Given the description of an element on the screen output the (x, y) to click on. 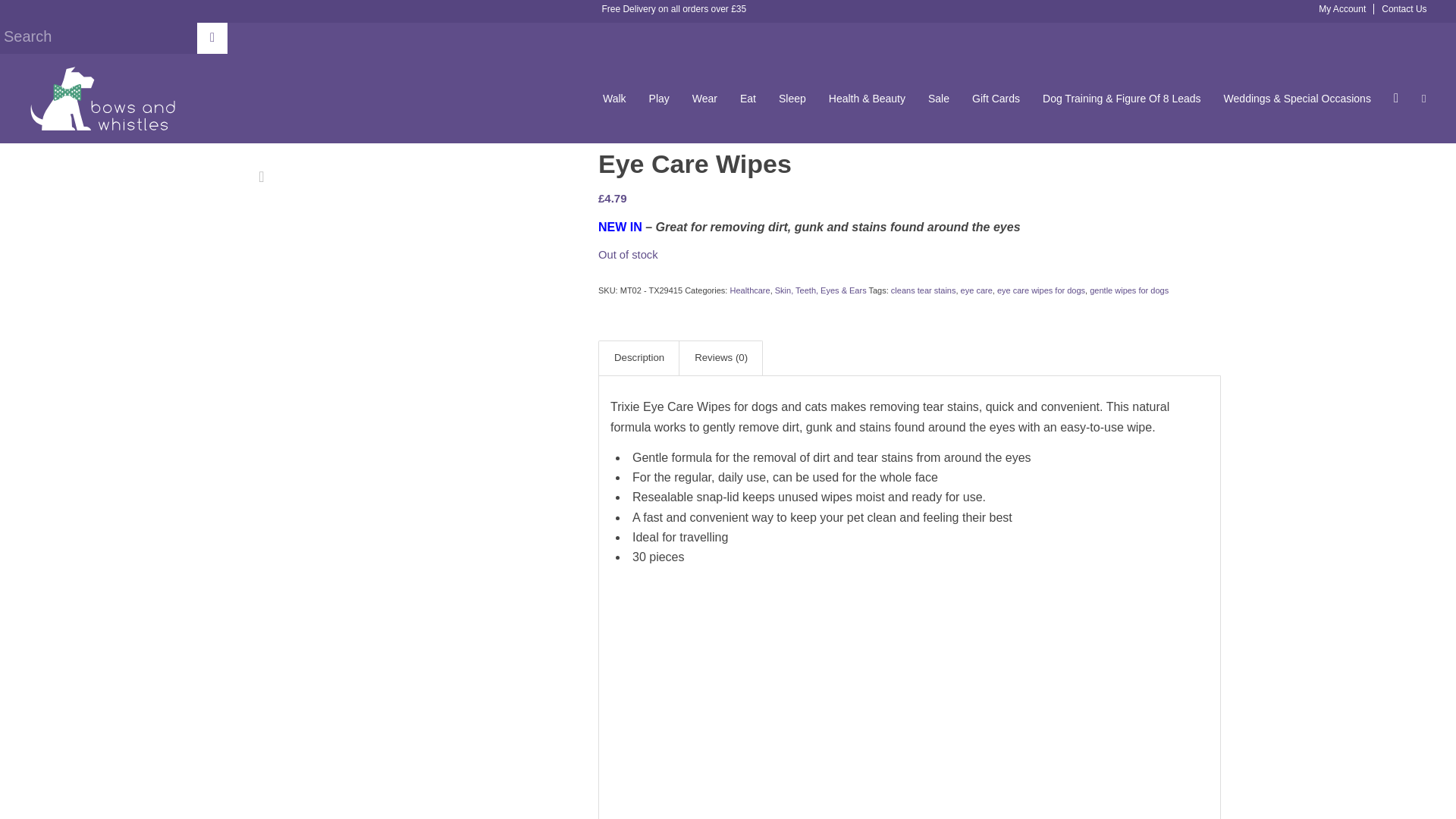
Contact Us (1400, 9)
Click to start search (211, 38)
My Account (1346, 9)
My Account (1346, 9)
Contact Us (1400, 9)
